Given the description of an element on the screen output the (x, y) to click on. 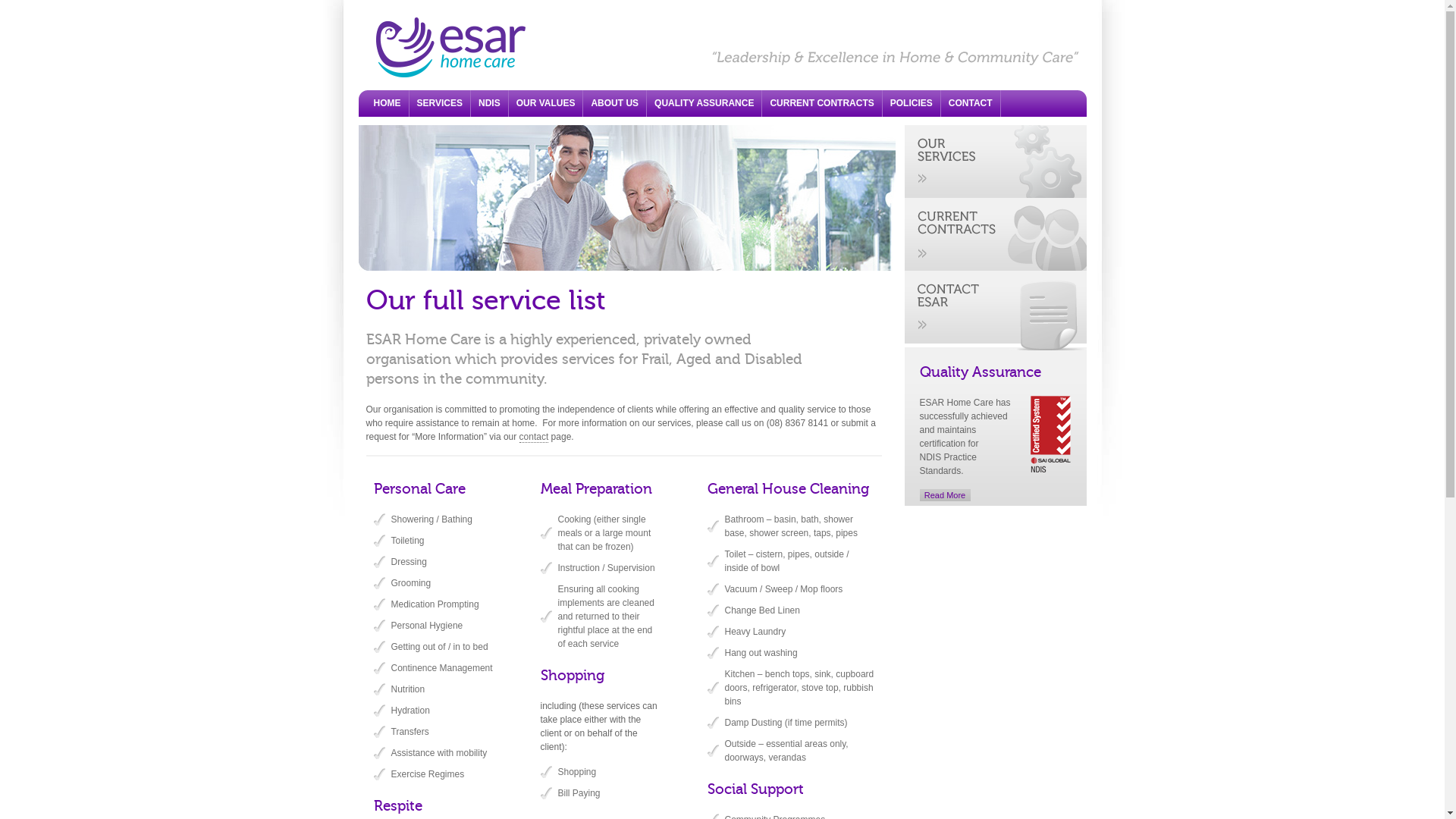
SERVICES Element type: text (439, 103)
HOME Element type: text (386, 103)
QUALITY ASSURANCE Element type: text (703, 103)
CURRENT CONTRACTS Element type: text (821, 103)
our services Element type: text (994, 161)
POLICIES Element type: text (911, 103)
current contracts Element type: text (994, 233)
CONTACT Element type: text (970, 103)
ABOUT US Element type: text (614, 103)
OUR VALUES Element type: text (545, 103)
Read More Element type: text (944, 495)
NDIS Element type: text (489, 103)
contact Element type: text (994, 310)
contact Element type: text (534, 436)
